Given the description of an element on the screen output the (x, y) to click on. 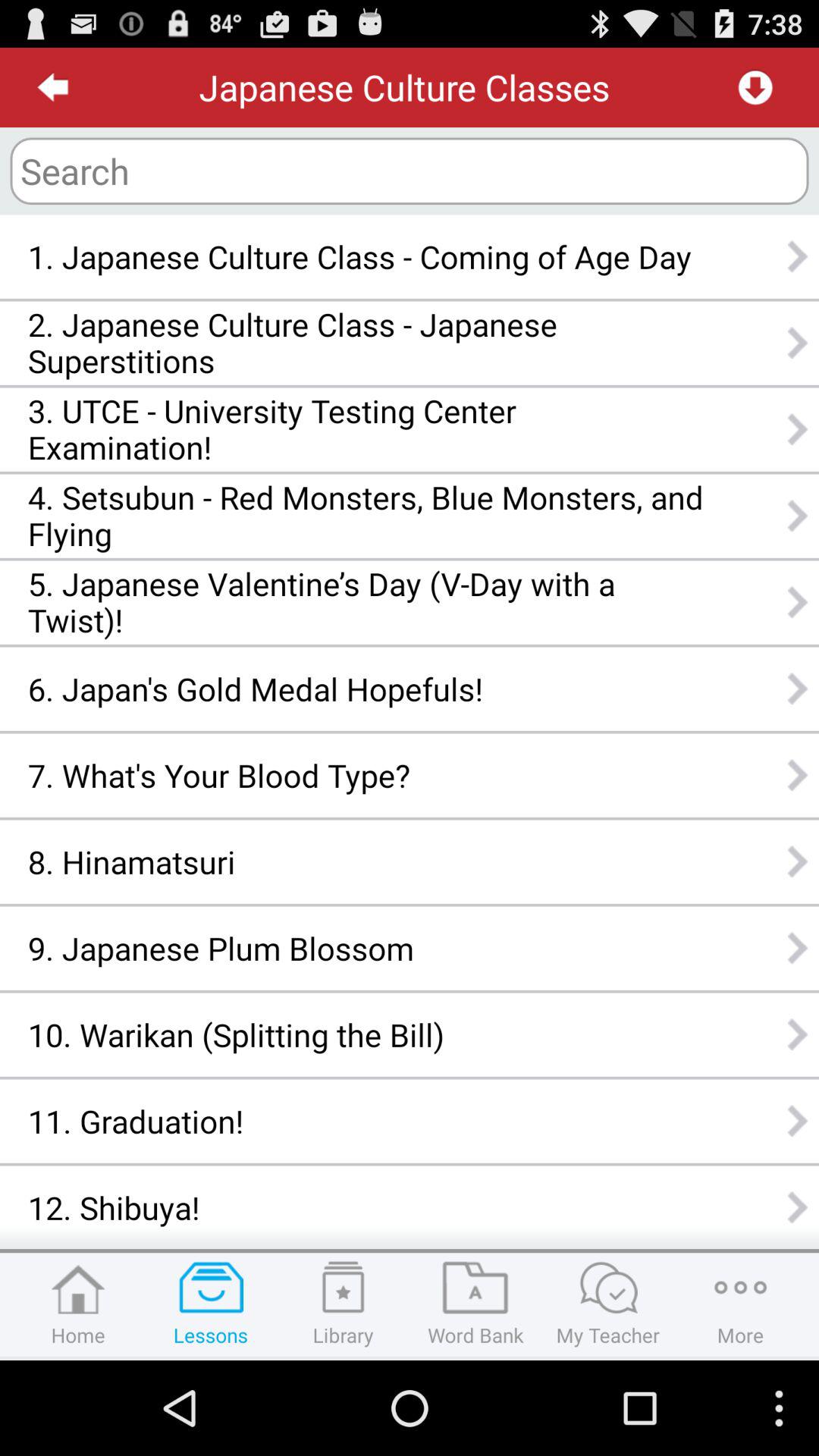
turn off the app below 11. graduation! (365, 1206)
